Given the description of an element on the screen output the (x, y) to click on. 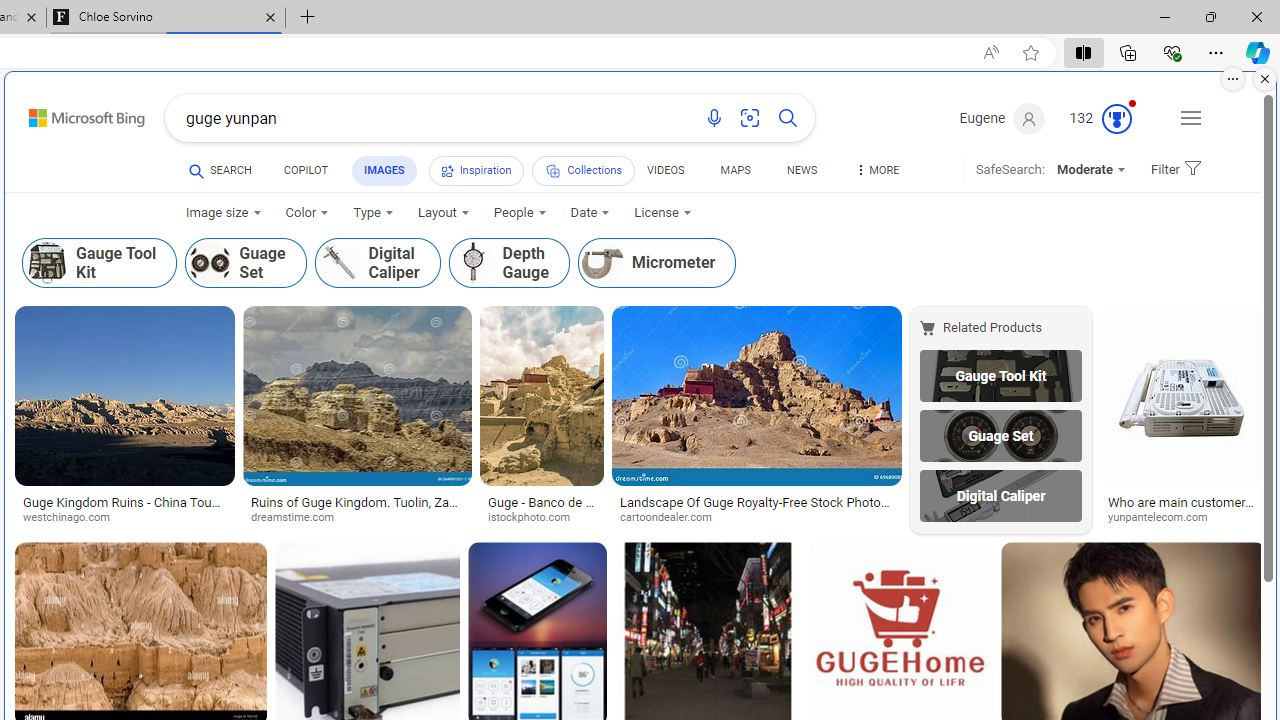
Search button (787, 117)
Digital Caliper (338, 262)
Color (306, 213)
Layout (443, 213)
Related ProductsGauge Tool KitGuage SetDigital Caliper (1004, 420)
Micrometer (602, 262)
SEARCH (219, 170)
dreamstime.com (356, 517)
